Given the description of an element on the screen output the (x, y) to click on. 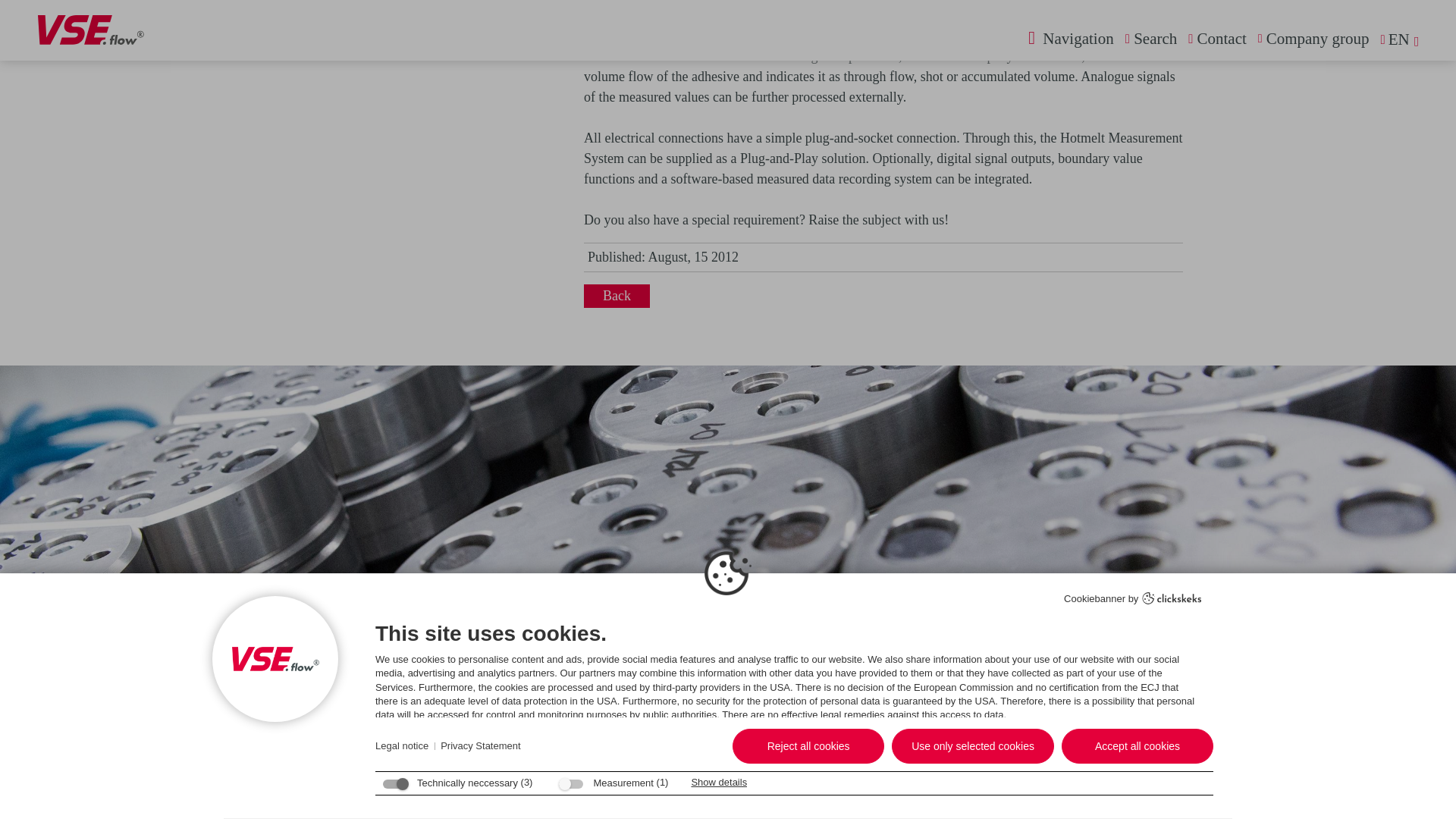
Clickskeks (1171, 23)
Clickskeks Logo (1171, 21)
